Given the description of an element on the screen output the (x, y) to click on. 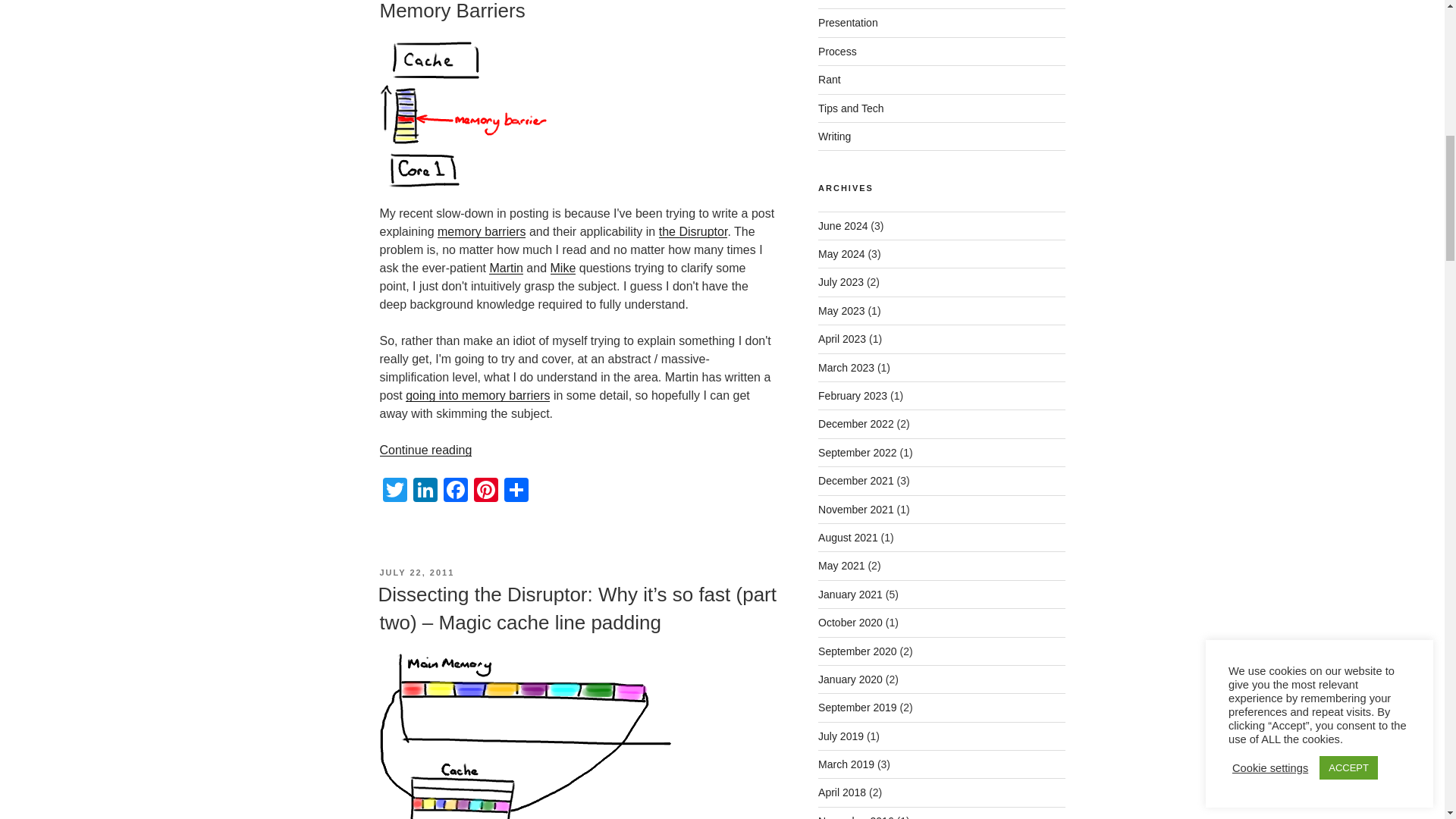
memory barriers (481, 231)
Twitter (393, 491)
Dissecting the Disruptor: Demystifying Memory Barriers (543, 11)
Pinterest (485, 491)
LinkedIn (424, 491)
Facebook (454, 491)
